Given the description of an element on the screen output the (x, y) to click on. 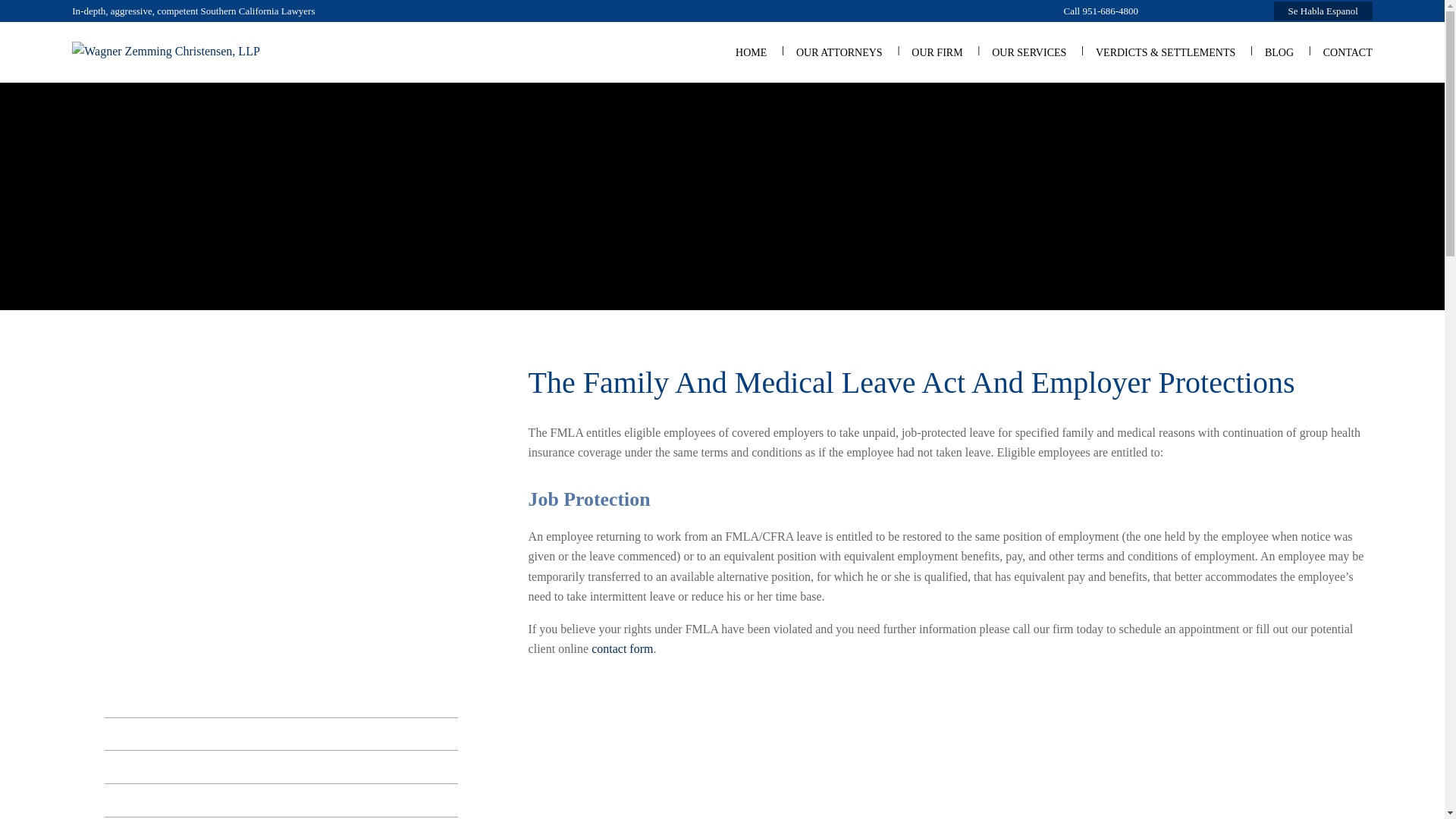
CONTACT (1340, 52)
BLOG (1279, 52)
OUR SERVICES (1029, 52)
HOME (752, 52)
Wagner Zemming Christensen, LLP (165, 50)
OUR ATTORNEYS (840, 52)
OUR FIRM (938, 52)
